Given the description of an element on the screen output the (x, y) to click on. 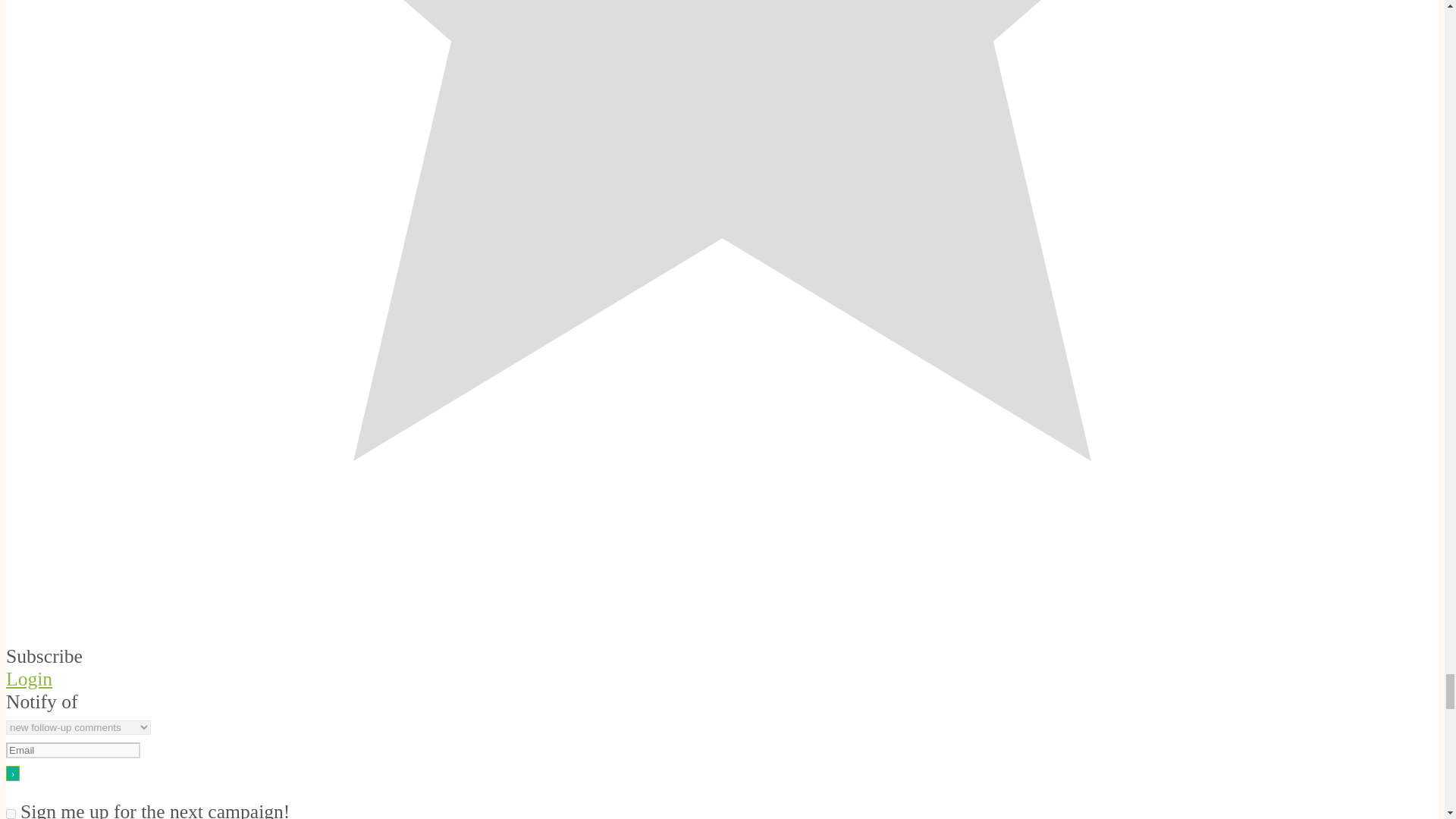
Login (28, 679)
1 (10, 814)
